Given the description of an element on the screen output the (x, y) to click on. 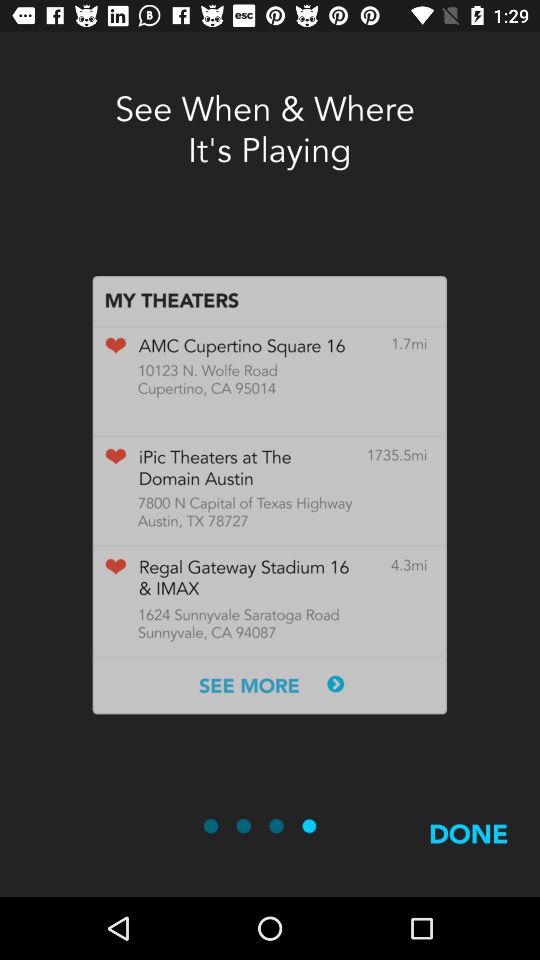
jump until the done icon (468, 857)
